Given the description of an element on the screen output the (x, y) to click on. 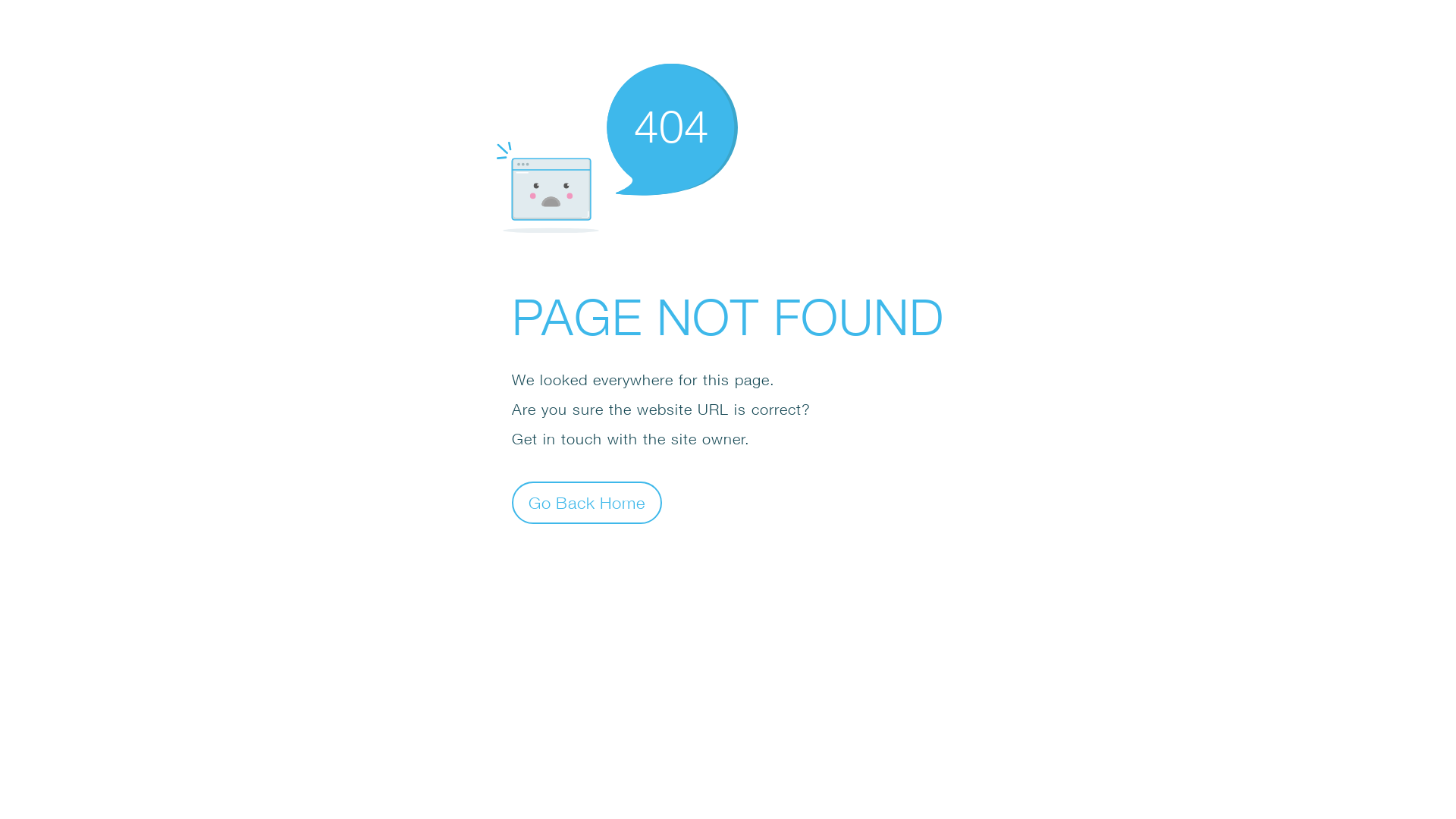
Go Back Home Element type: text (586, 502)
